Given the description of an element on the screen output the (x, y) to click on. 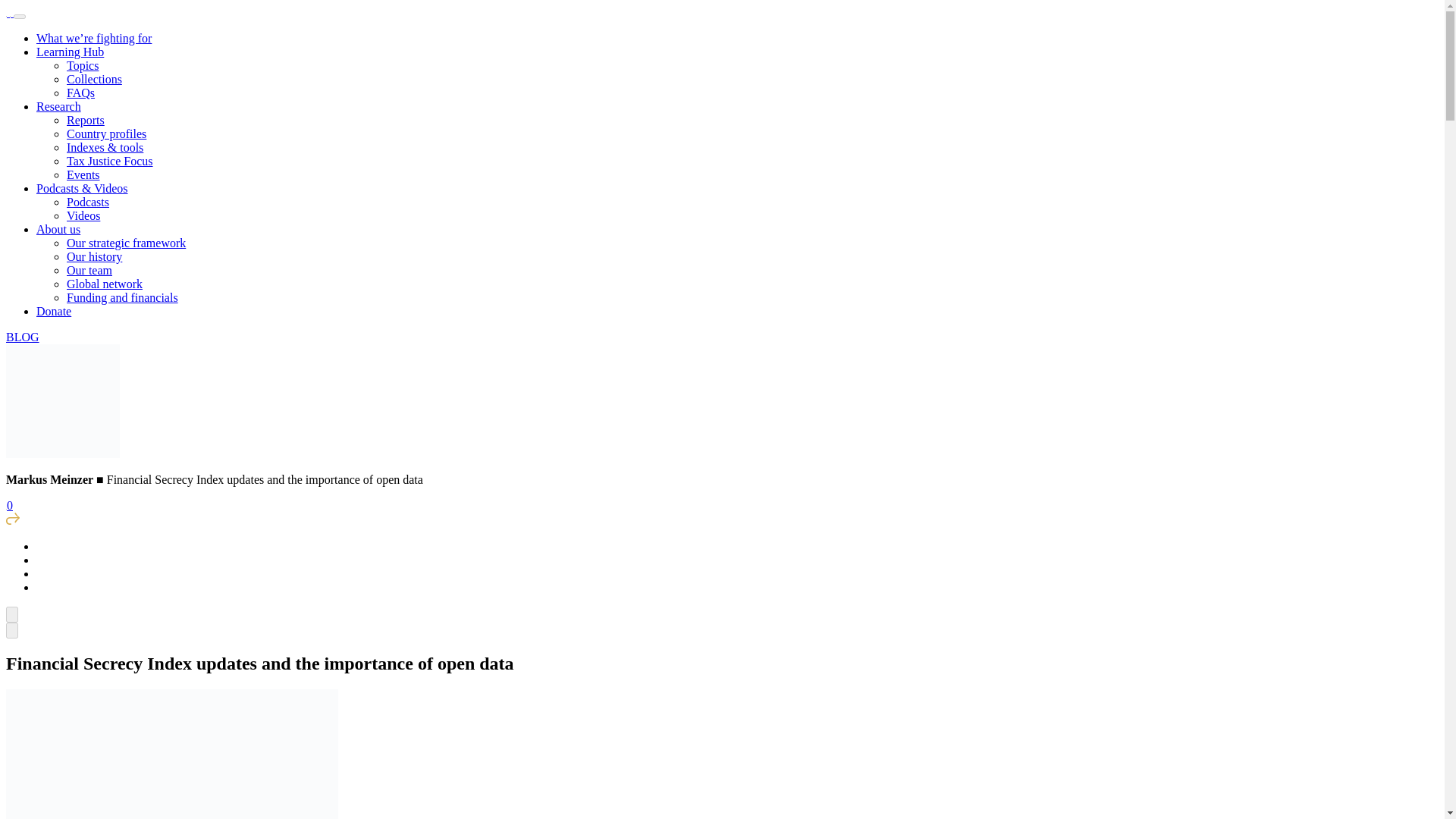
FAQs (80, 92)
Events (83, 174)
Research (58, 106)
Topics (82, 65)
Videos (83, 215)
BLOG (22, 336)
Country profiles (106, 133)
Donate (53, 310)
About us (58, 228)
Our team (89, 269)
